Given the description of an element on the screen output the (x, y) to click on. 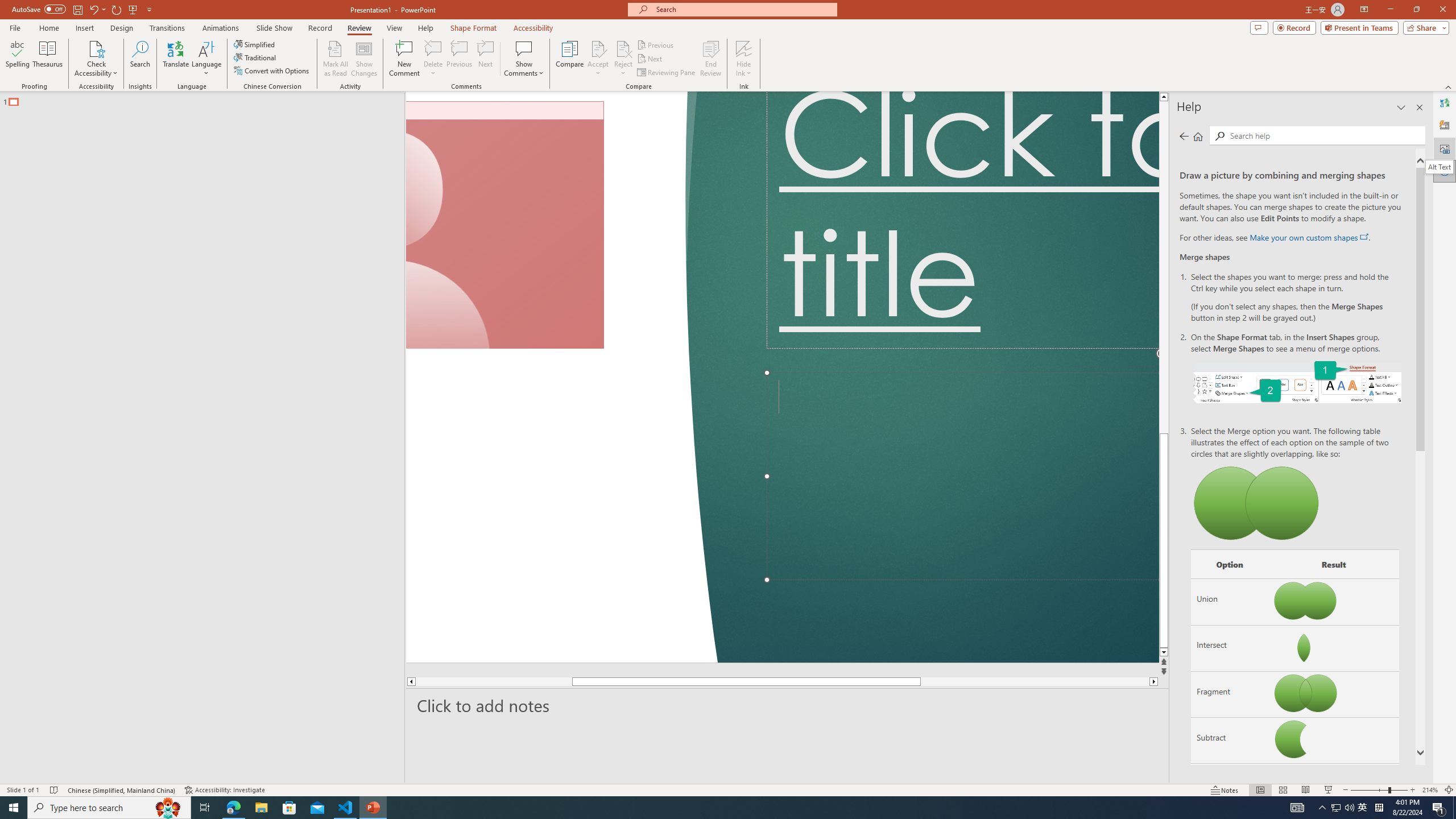
Traditional (255, 56)
File Tab (15, 27)
Reject (622, 58)
Microsoft search (742, 9)
Accessibility Checker Accessibility: Investigate (226, 790)
Combine (1229, 786)
Fragment (1229, 693)
Translator (1444, 102)
Delete (432, 58)
Reviewing Pane (666, 72)
Language (206, 58)
Spelling... (17, 58)
